Given the description of an element on the screen output the (x, y) to click on. 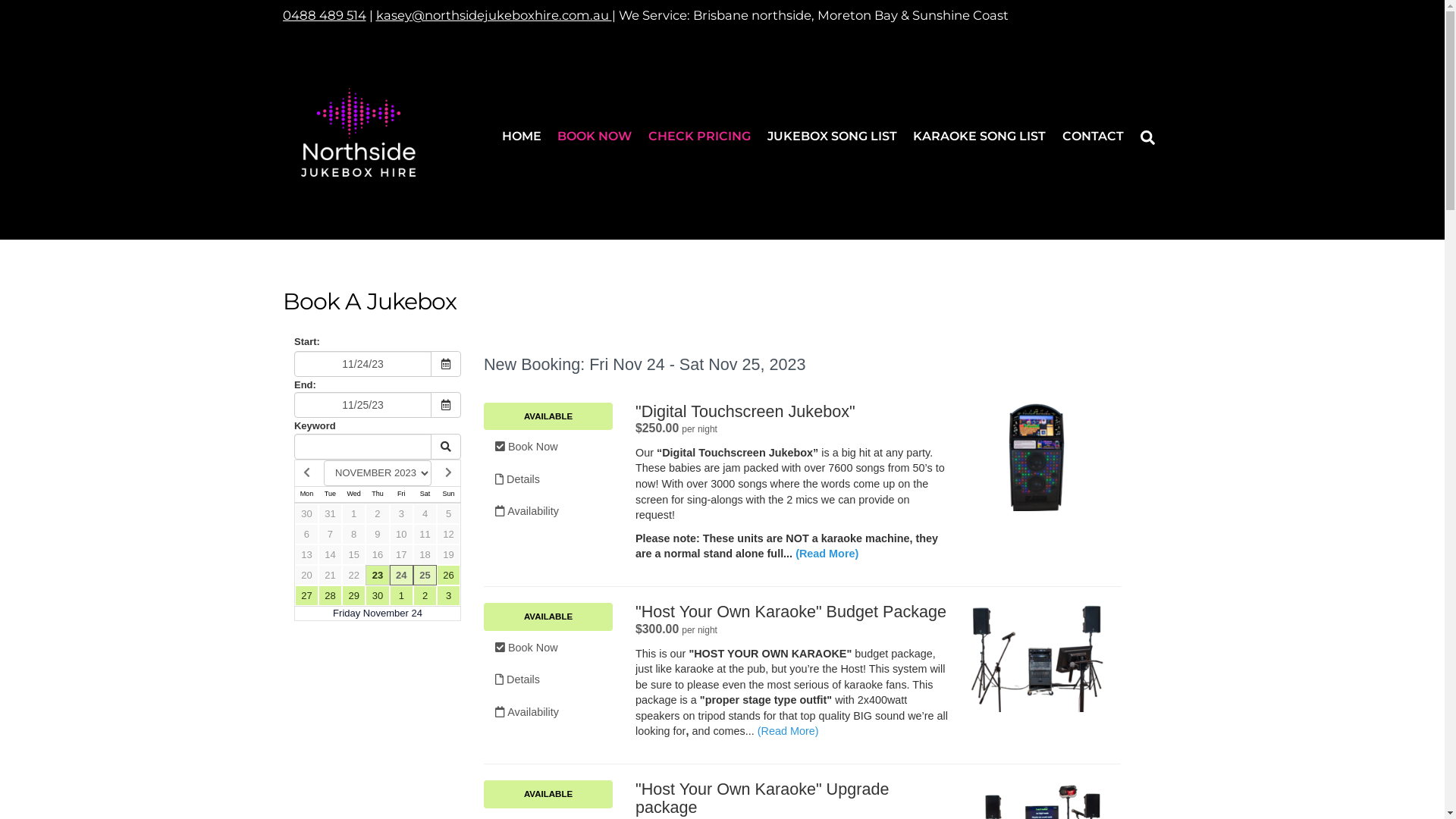
HOME Element type: text (521, 136)
Search Element type: text (1147, 136)
0488 489 514 Element type: text (323, 14)
BOOK NOW Element type: text (595, 136)
KARAOKE SONG LIST Element type: text (979, 136)
JUKEBOX SONG LIST Element type: text (831, 136)
CONTACT Element type: text (1092, 136)
Purple + Pink On Transparent Element type: hover (357, 133)
CHECK PRICING Element type: text (699, 136)
Northside Jukebox Hire Element type: hover (357, 201)
kasey@northsidejukeboxhire.com.au Element type: text (493, 14)
